Given the description of an element on the screen output the (x, y) to click on. 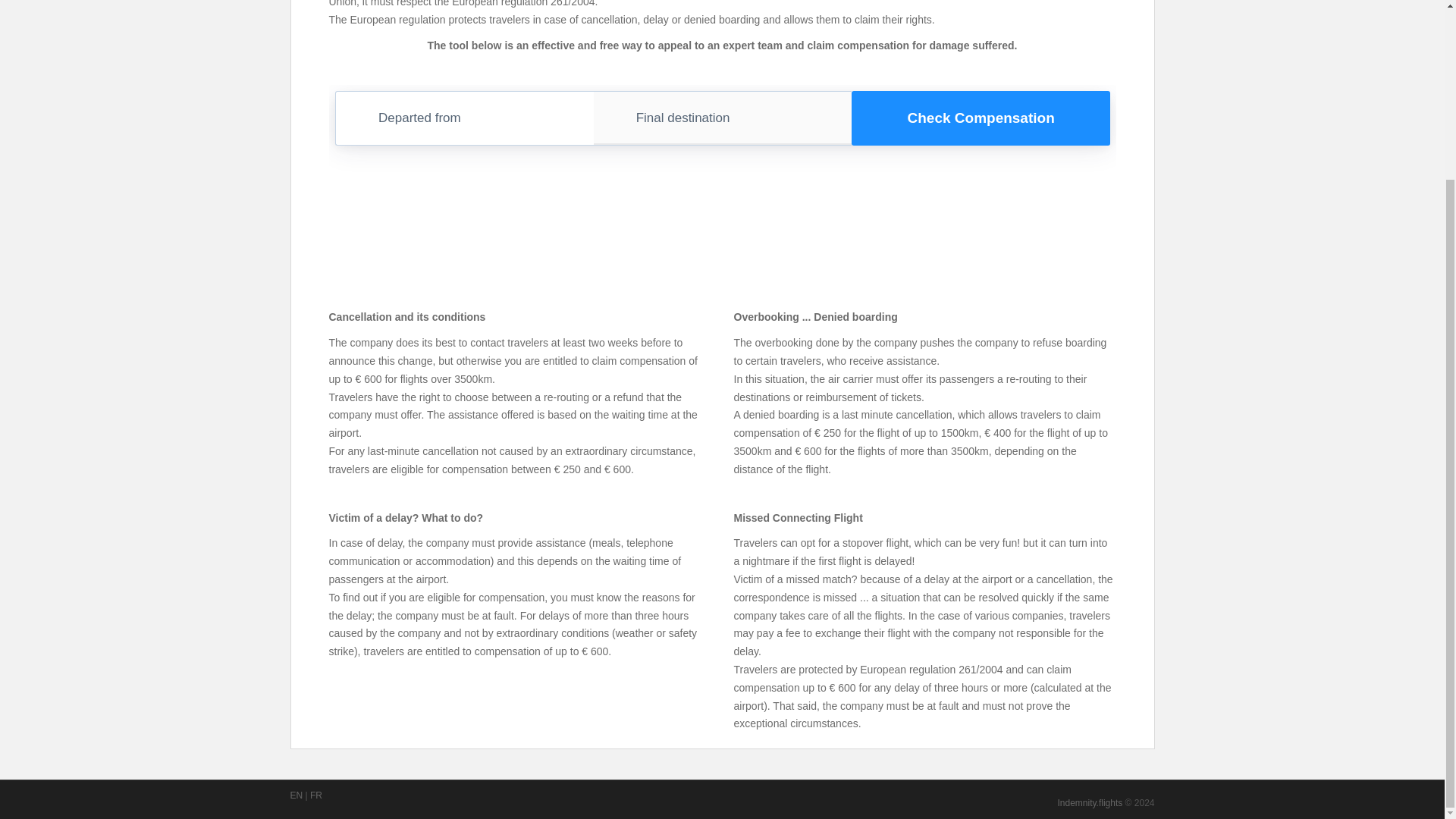
FR (315, 795)
Indemnity.flights (1089, 802)
EN (295, 795)
